Given the description of an element on the screen output the (x, y) to click on. 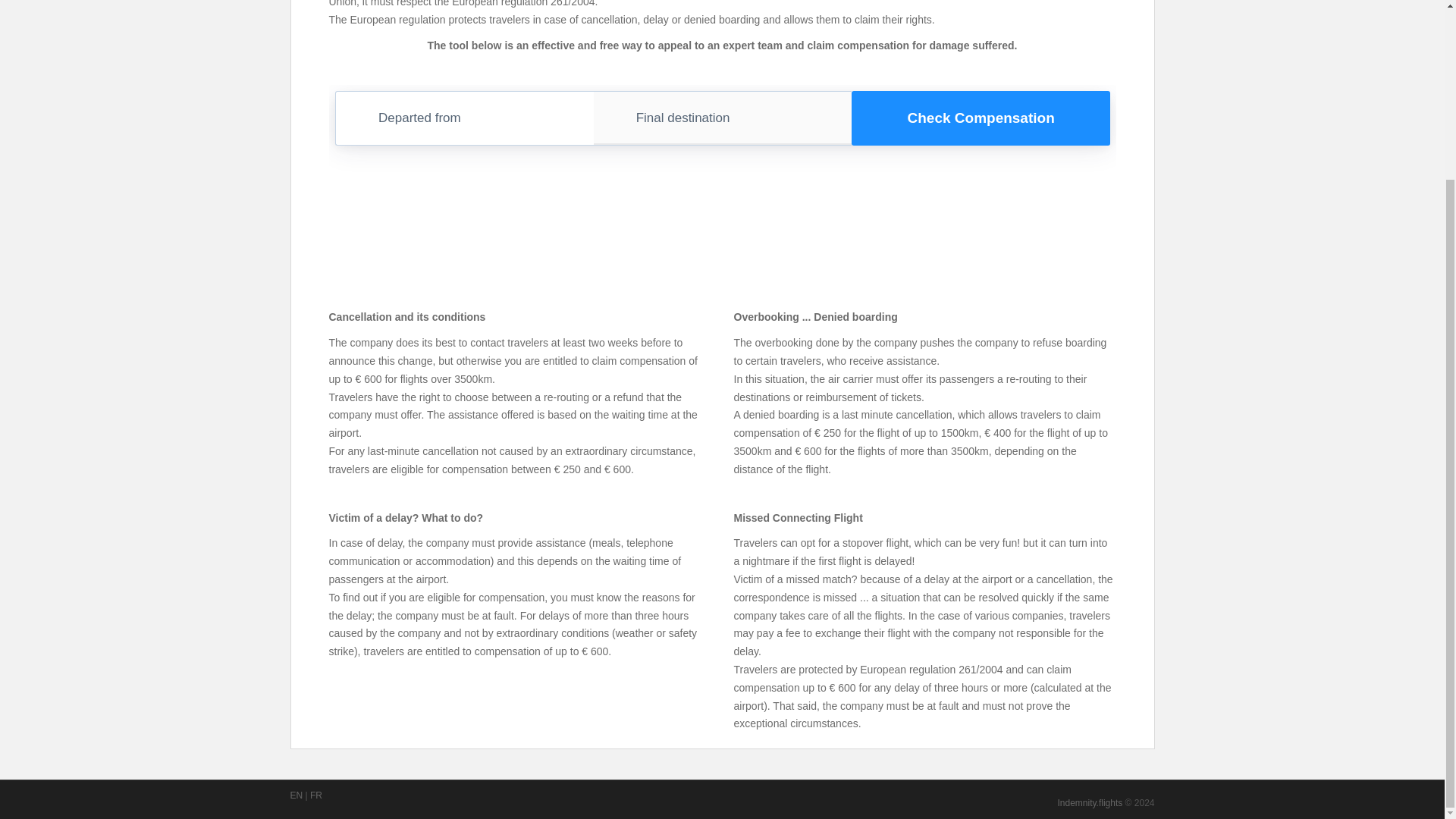
FR (315, 795)
Indemnity.flights (1089, 802)
EN (295, 795)
